Given the description of an element on the screen output the (x, y) to click on. 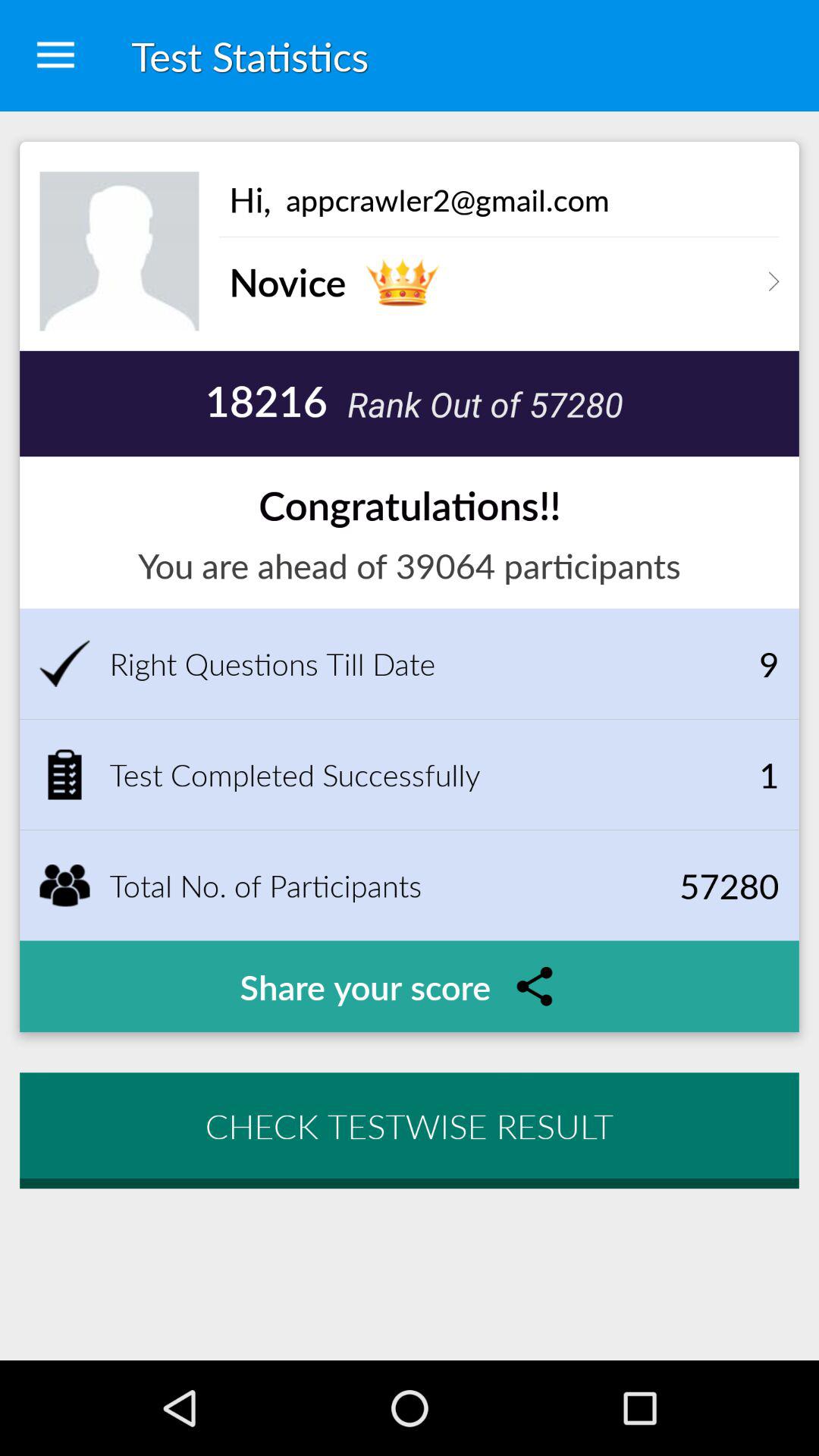
turn off the item to the left of the test statistics icon (55, 55)
